Given the description of an element on the screen output the (x, y) to click on. 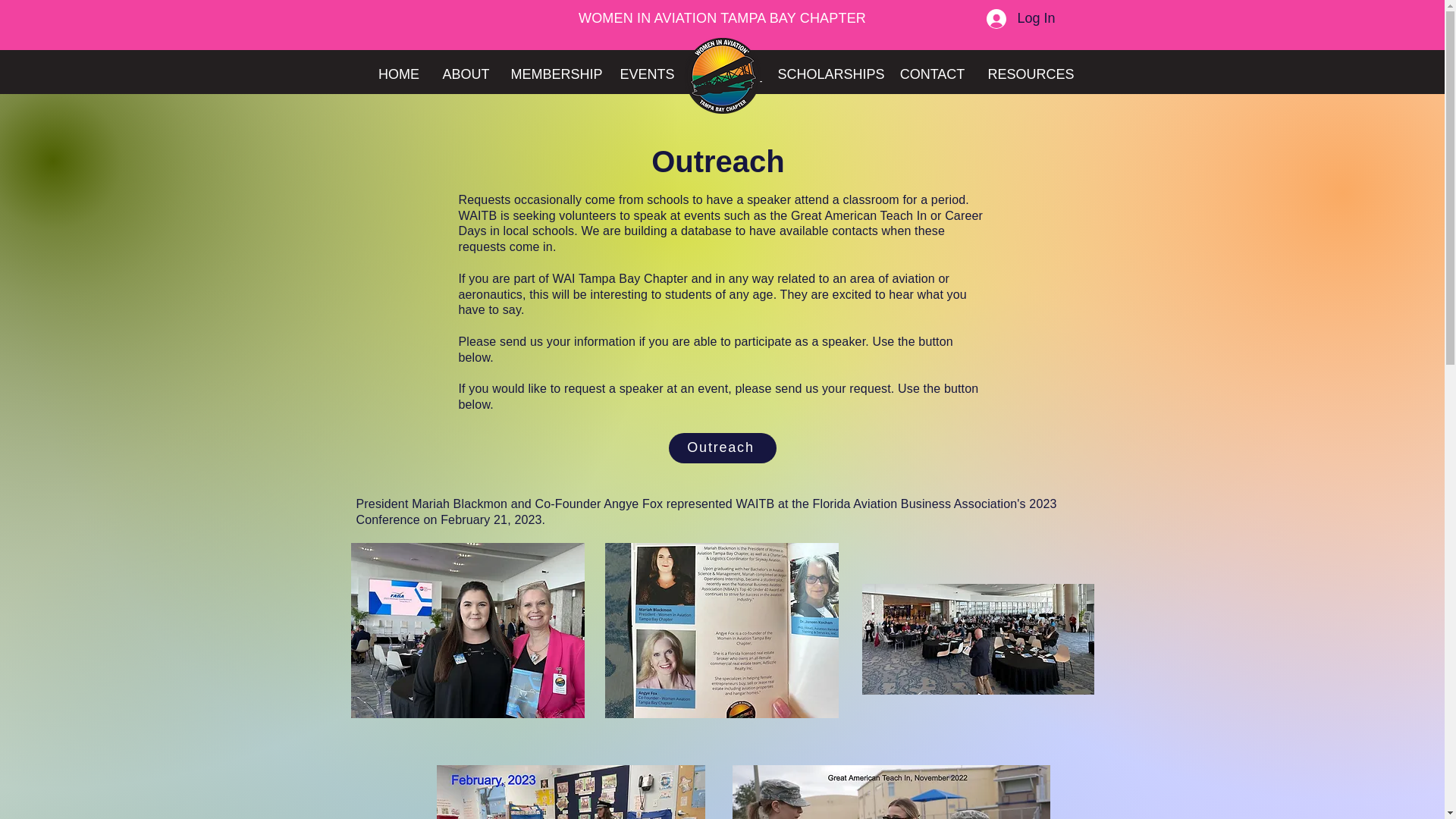
MEMBERSHIP (553, 74)
RESOURCES (1027, 74)
ABOUT (464, 74)
SCHOLARSHIPS (826, 74)
Log In (1020, 18)
Outreach (722, 448)
FABA 2.jpg (721, 630)
FABA 3.jpg (977, 638)
CONTACT (932, 74)
EVENTS (644, 74)
HOME (398, 74)
